Given the description of an element on the screen output the (x, y) to click on. 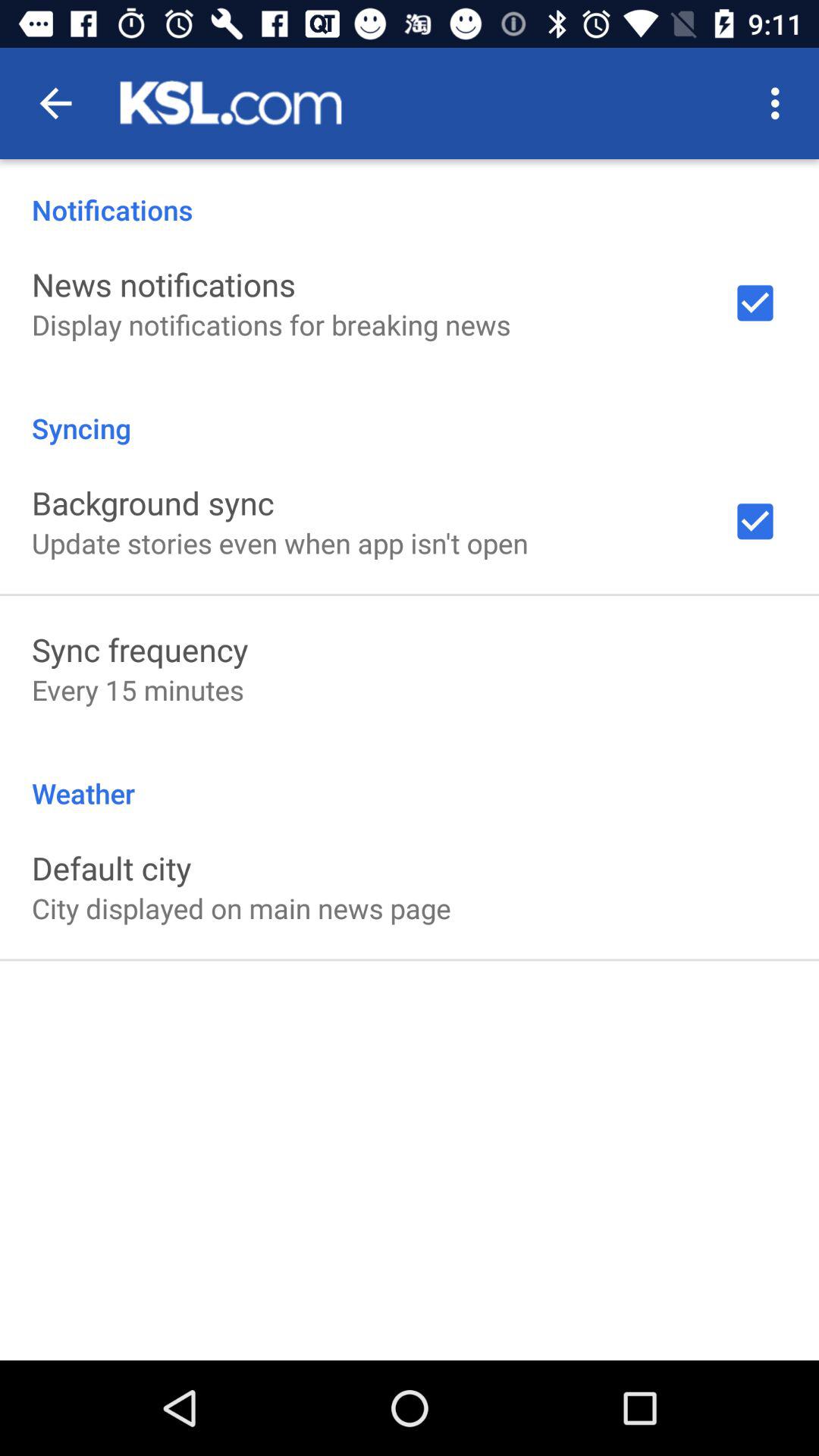
jump to the city displayed on item (241, 908)
